Given the description of an element on the screen output the (x, y) to click on. 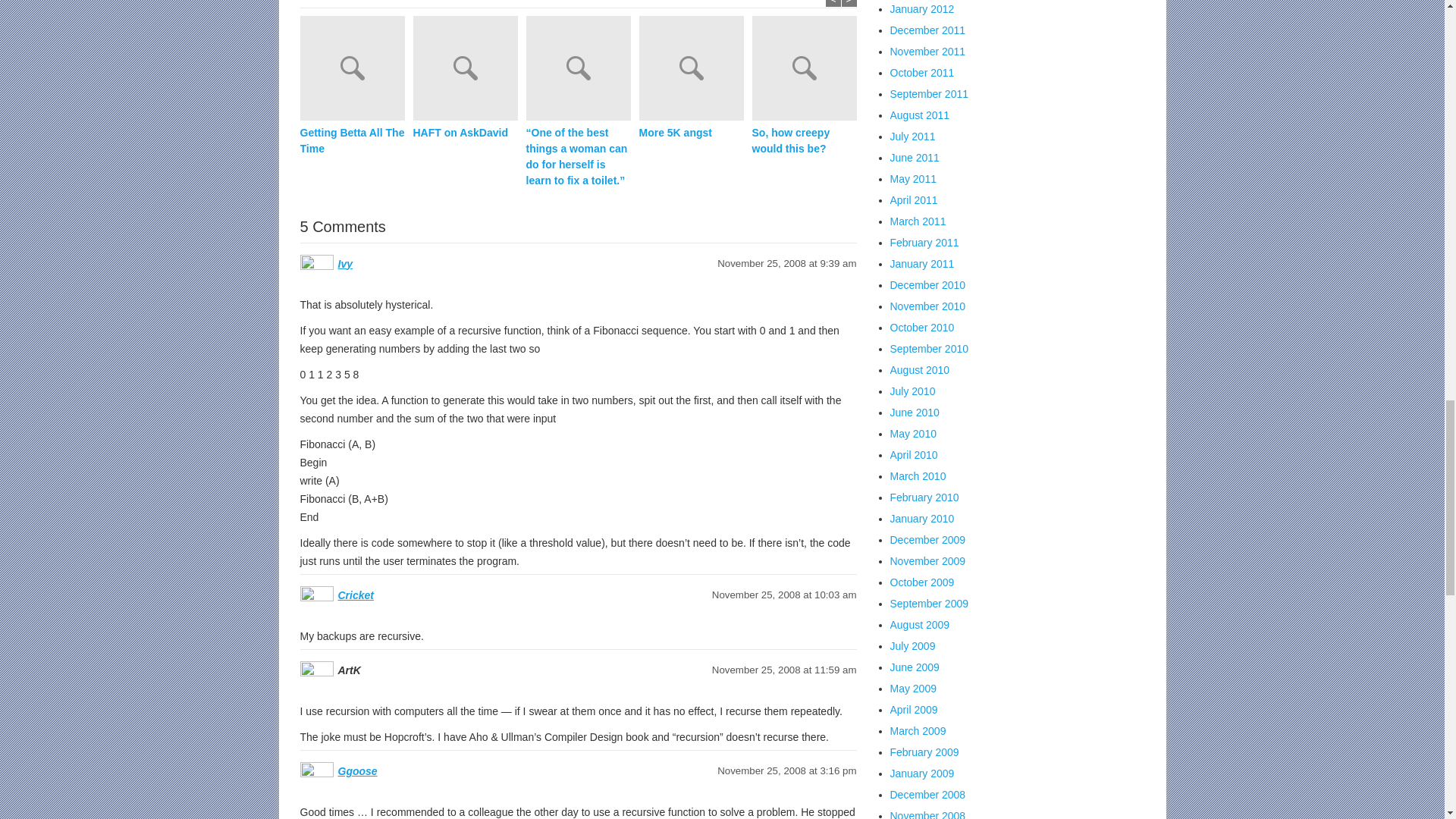
More 5K angst (690, 132)
So, how creepy would this be? (804, 141)
HAFT on AskDavid (468, 70)
Cricket (355, 594)
HAFT on AskDavid (464, 132)
Getting Betta All The Time (356, 70)
Ggoose (357, 770)
Getting Betta All The Time (351, 141)
Ivy (344, 263)
HAFT on AskDavid (464, 132)
Getting Betta All The Time (351, 141)
